Given the description of an element on the screen output the (x, y) to click on. 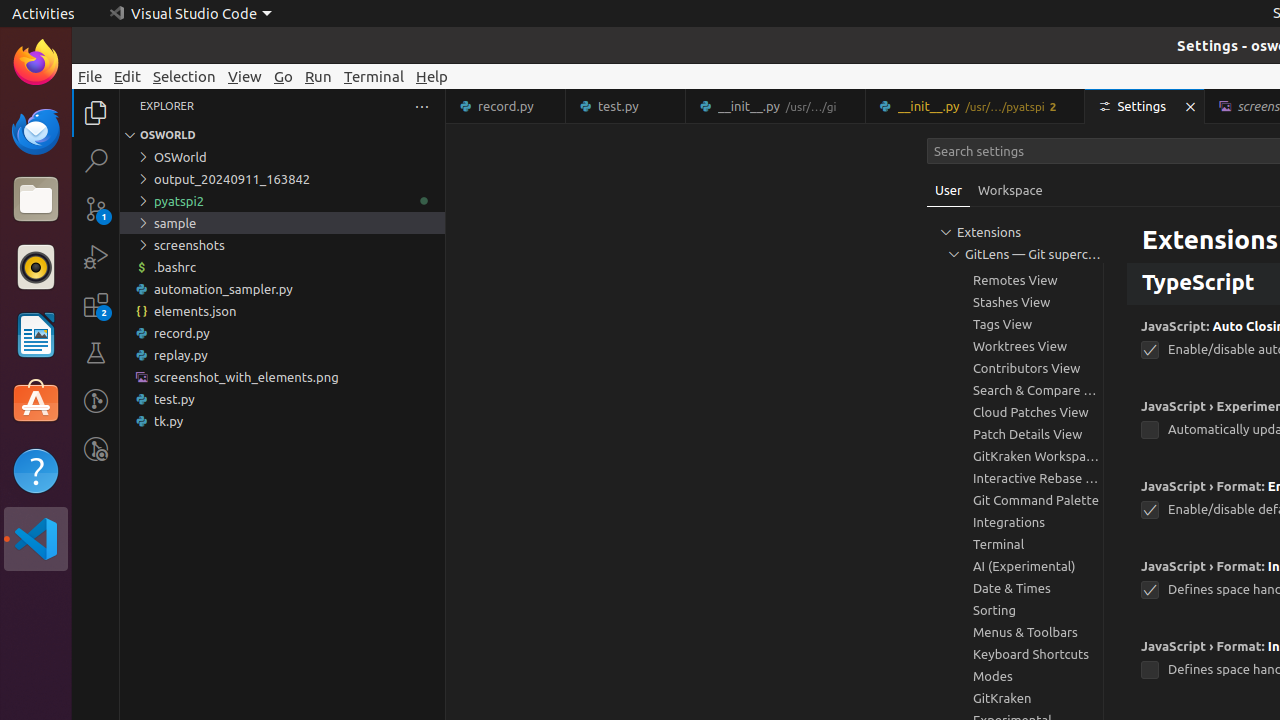
Run and Debug (Ctrl+Shift+D) Element type: page-tab (96, 257)
Workspace Element type: check-box (1010, 190)
record.py Element type: tree-item (282, 333)
screenshot_with_elements.png Element type: tree-item (282, 377)
